Given the description of an element on the screen output the (x, y) to click on. 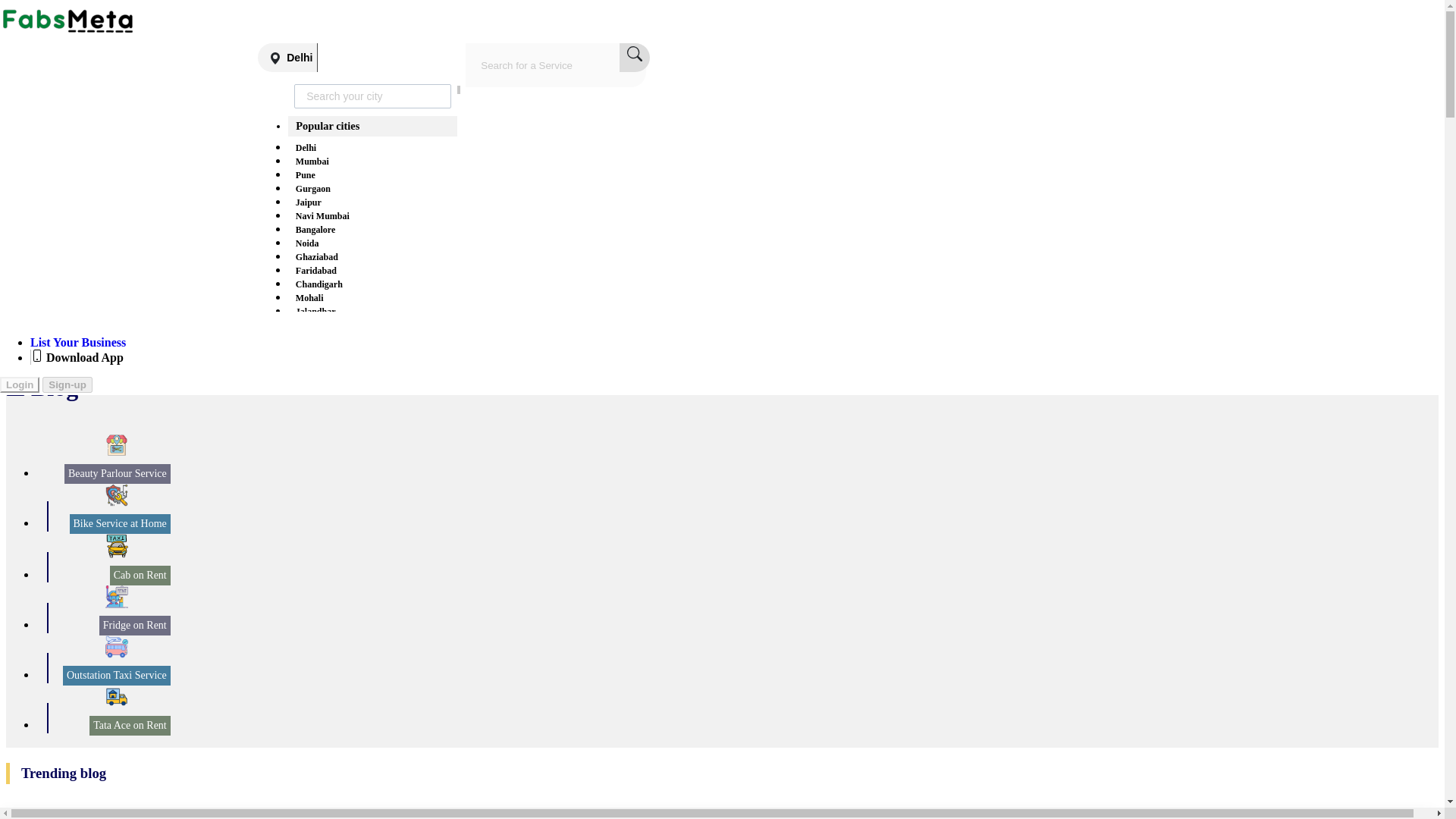
Panchkula (315, 379)
Blog (733, 199)
Bhatinda (313, 365)
Login (733, 273)
Meerut (309, 447)
Pune (304, 175)
Kolkata (311, 529)
Jabalpur (312, 638)
Gurgaon (312, 188)
Thane (307, 475)
Home (733, 50)
Chennai (312, 570)
Ludhiana (314, 324)
Delhi (287, 57)
Patiala (309, 352)
